Given the description of an element on the screen output the (x, y) to click on. 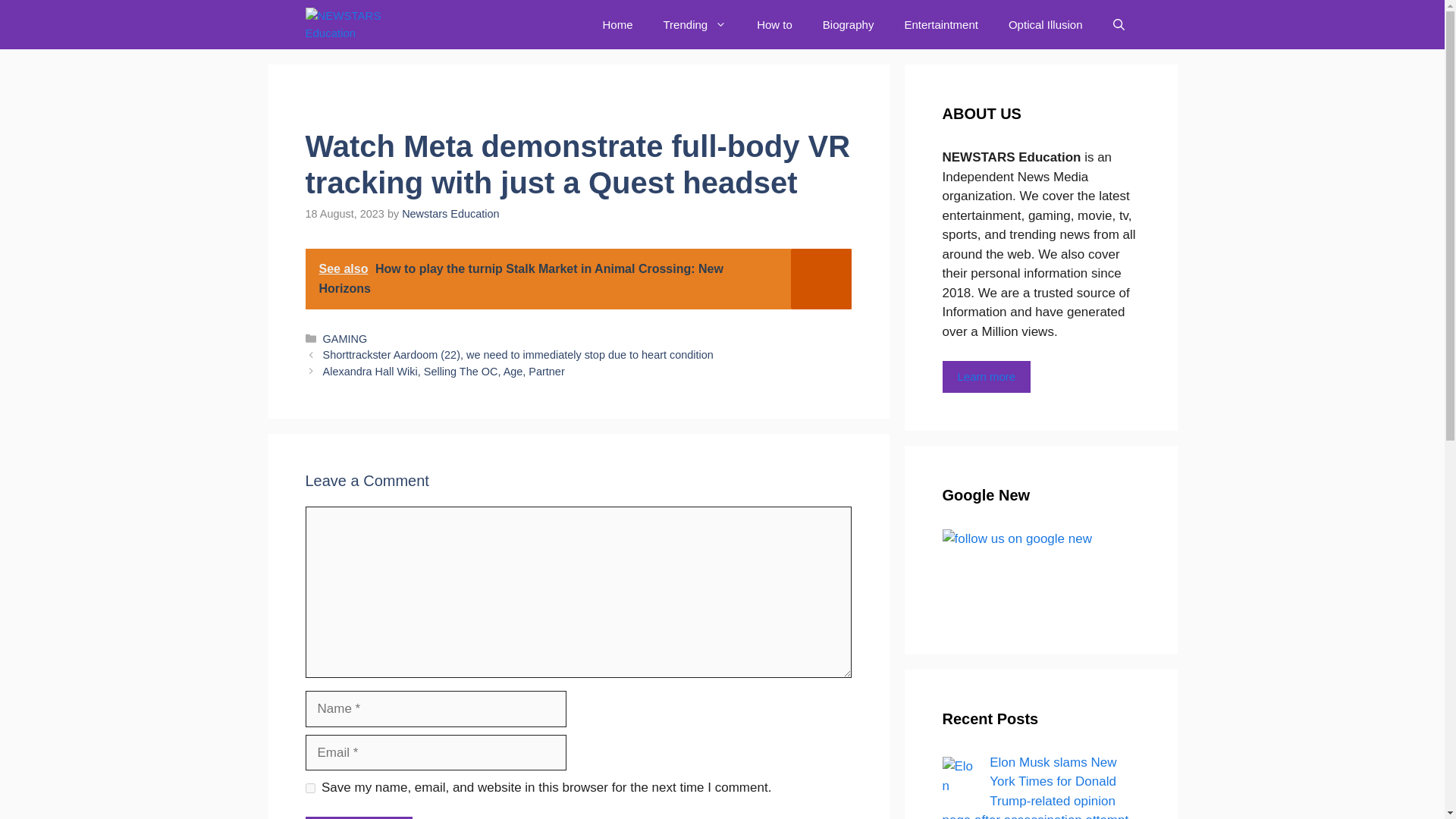
Newstars Education (450, 214)
Alexandra Hall Wiki, Selling The OC, Age, Partner (443, 371)
GAMING (345, 338)
yes (309, 787)
View all posts by Newstars Education (450, 214)
How to (774, 24)
Entertaintment (940, 24)
Post Comment (358, 817)
NEWSTARS Education (367, 24)
Learn more (986, 377)
Optical Illusion (1044, 24)
Post Comment (358, 817)
